Given the description of an element on the screen output the (x, y) to click on. 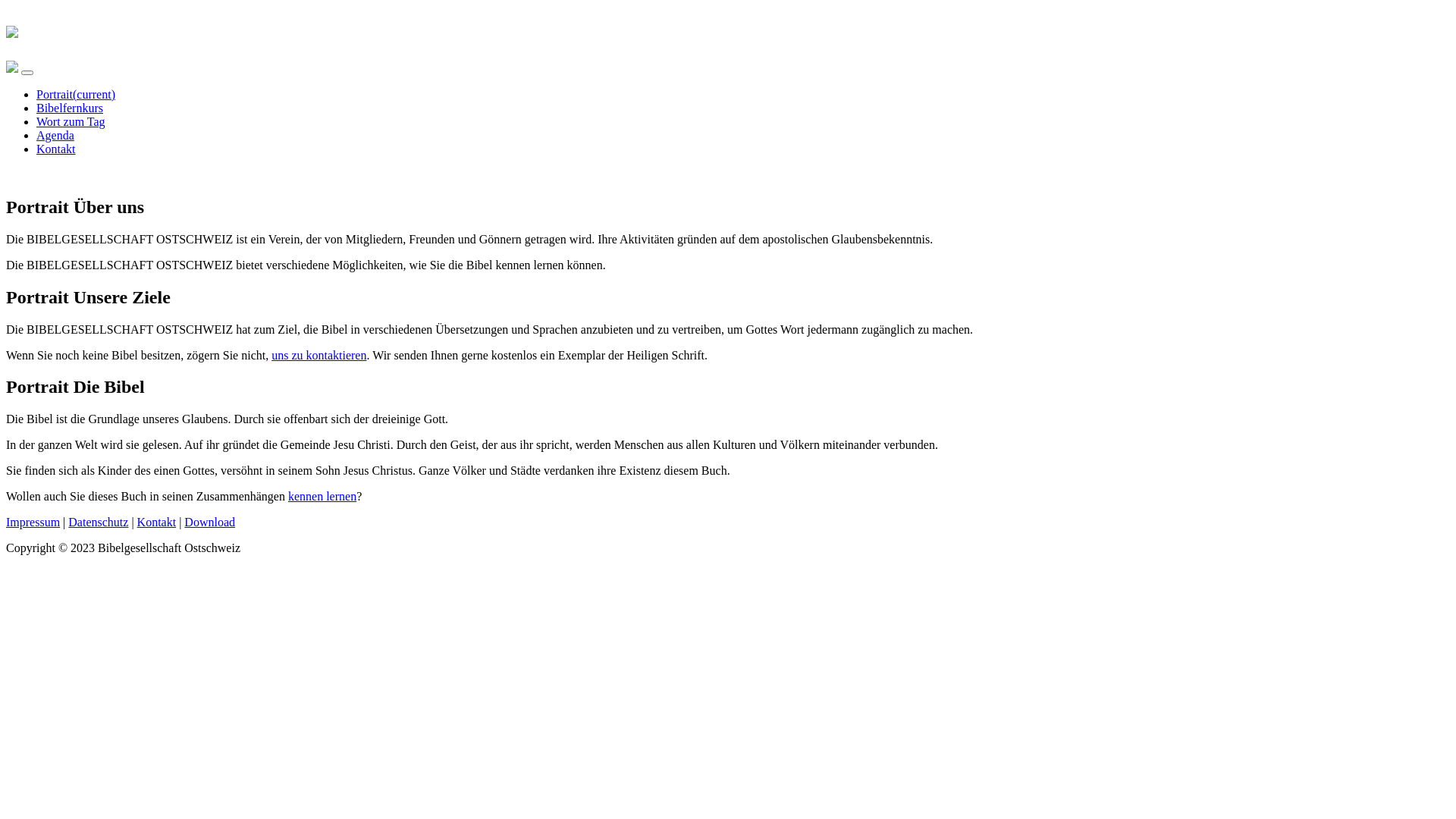
kennen lernen Element type: text (322, 495)
Kontakt Element type: text (55, 148)
uns zu kontaktieren Element type: text (318, 354)
Datenschutz Element type: text (98, 521)
Portrait(current) Element type: text (75, 93)
Agenda Element type: text (55, 134)
Download Element type: text (209, 521)
Bibelfernkurs Element type: text (69, 107)
Impressum Element type: text (32, 521)
Kontakt Element type: text (156, 521)
Wort zum Tag Element type: text (70, 121)
